Given the description of an element on the screen output the (x, y) to click on. 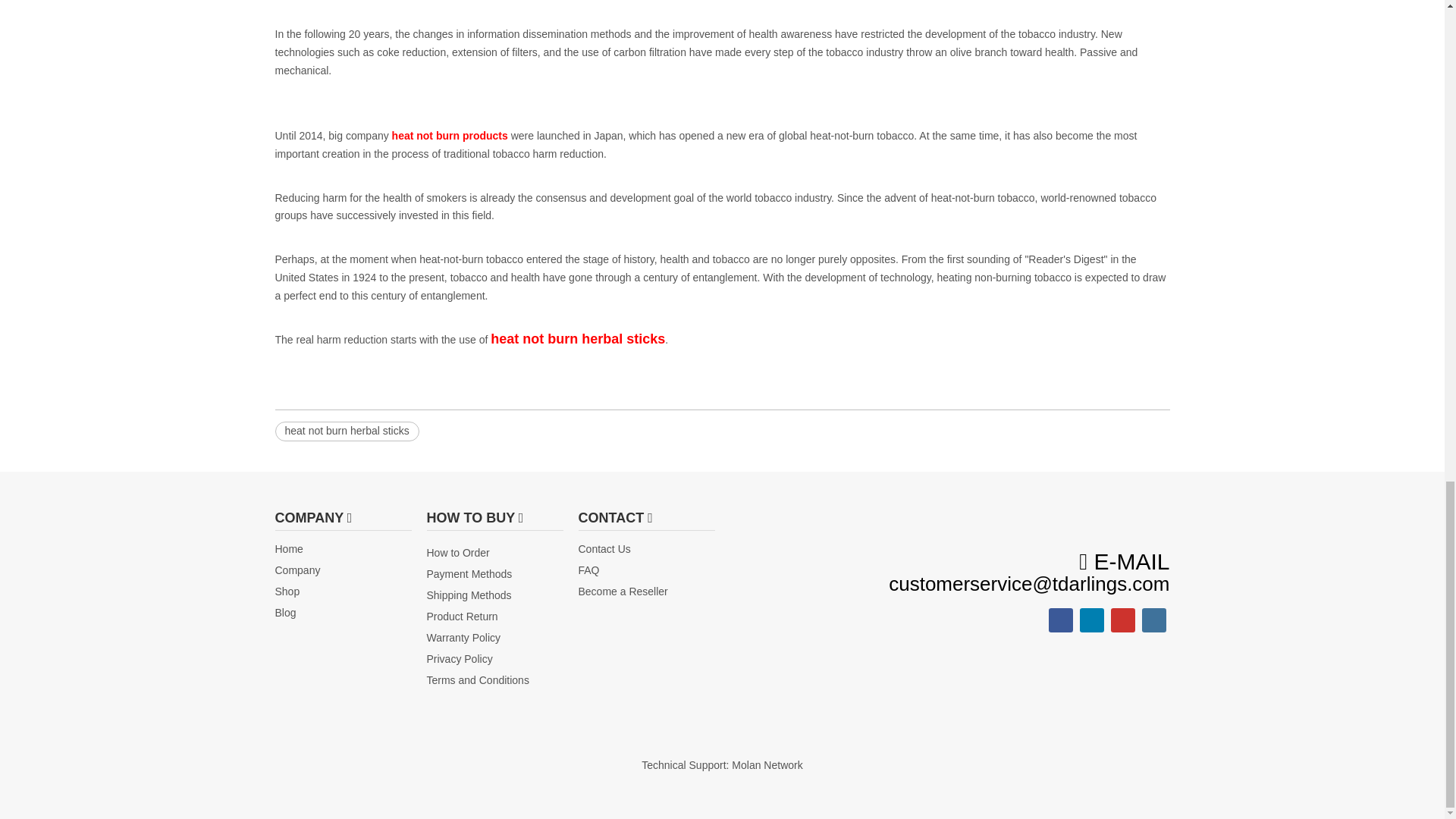
Shop (287, 591)
Product Return (461, 616)
Terms and Conditions (477, 680)
Payment Methods (469, 573)
FAQ (588, 570)
Warranty Policy (463, 637)
Privacy Policy (459, 658)
Shipping Methods (468, 594)
heat not burn herbal sticks (347, 431)
Home (288, 548)
Contact Us (604, 548)
How to Order (457, 552)
Company (297, 570)
Become a Reseller (622, 591)
Blog (285, 612)
